Given the description of an element on the screen output the (x, y) to click on. 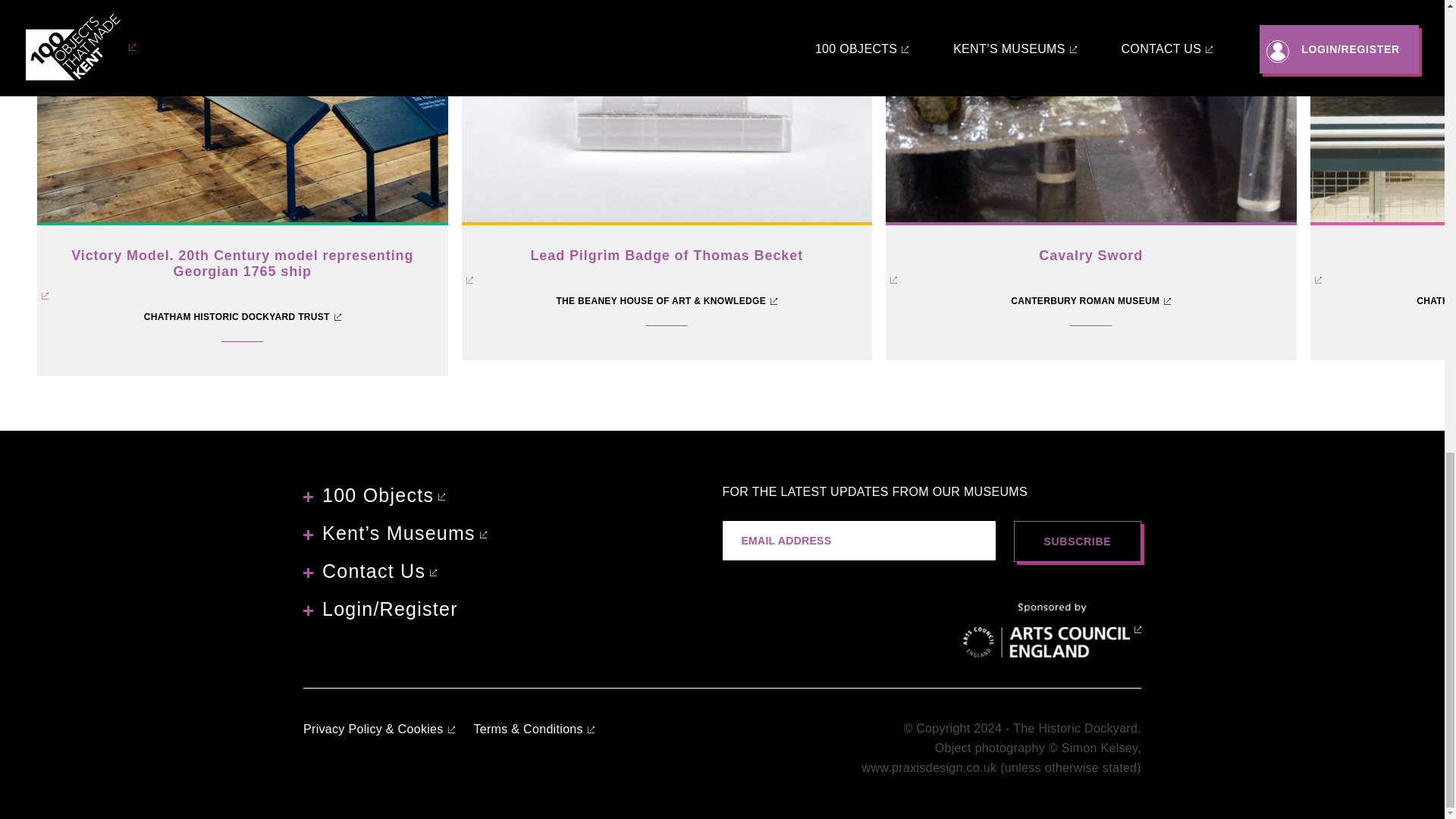
CHATHAM HISTORIC DOCKYARD TRUST (1091, 142)
100 Objects (242, 317)
CANTERBURY ROMAN MUSEUM (373, 494)
